Given the description of an element on the screen output the (x, y) to click on. 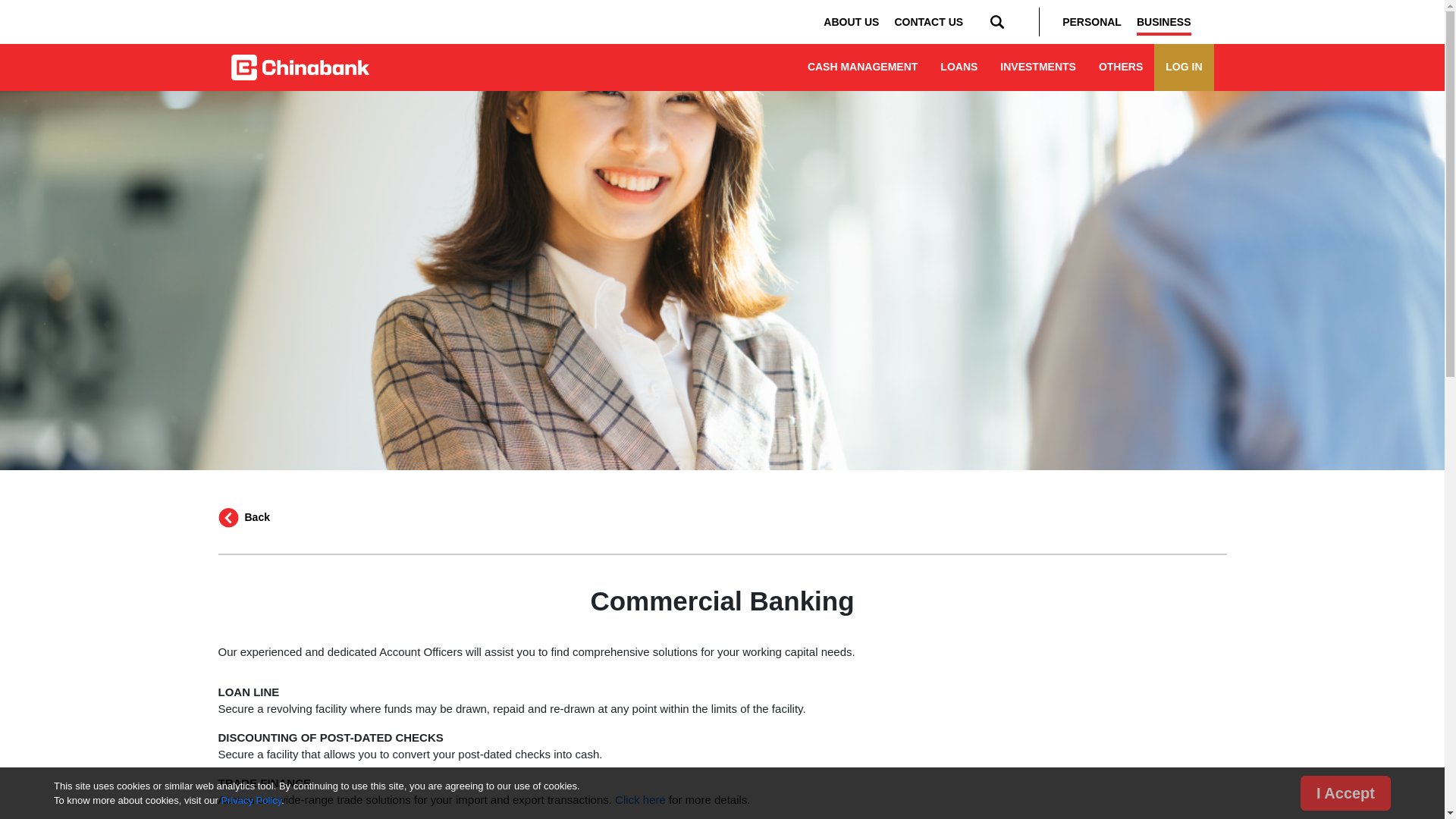
CASH MANAGEMENT (862, 67)
Click here (639, 799)
OTHERS (1120, 67)
LOANS (958, 67)
Back (243, 518)
LOG IN (1183, 67)
ABOUT US (851, 22)
BUSINESS (1164, 22)
INVESTMENTS (1037, 67)
PERSONAL (1091, 22)
CONTACT US (927, 22)
